Given the description of an element on the screen output the (x, y) to click on. 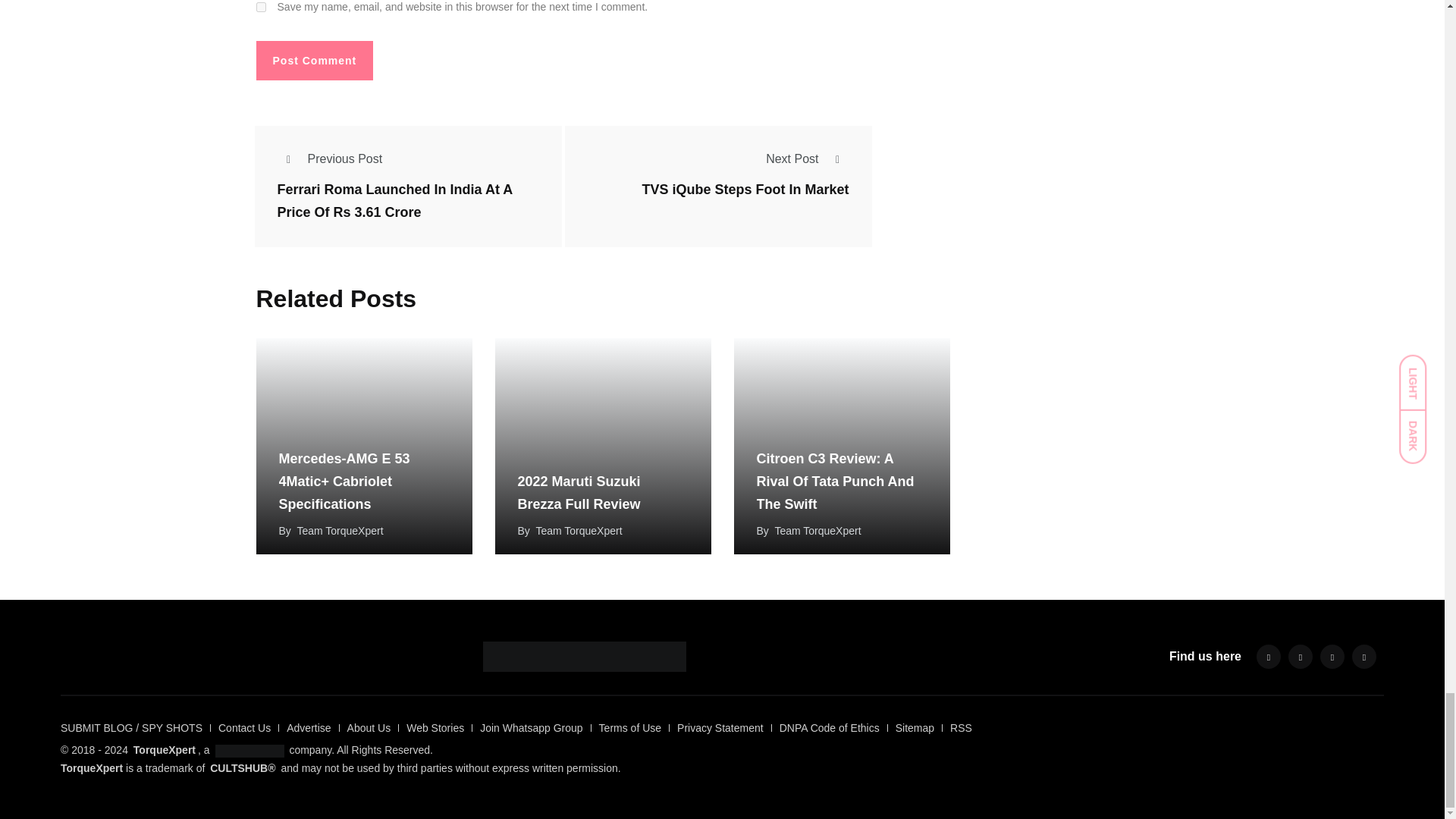
Post Comment (315, 60)
yes (261, 7)
